Given the description of an element on the screen output the (x, y) to click on. 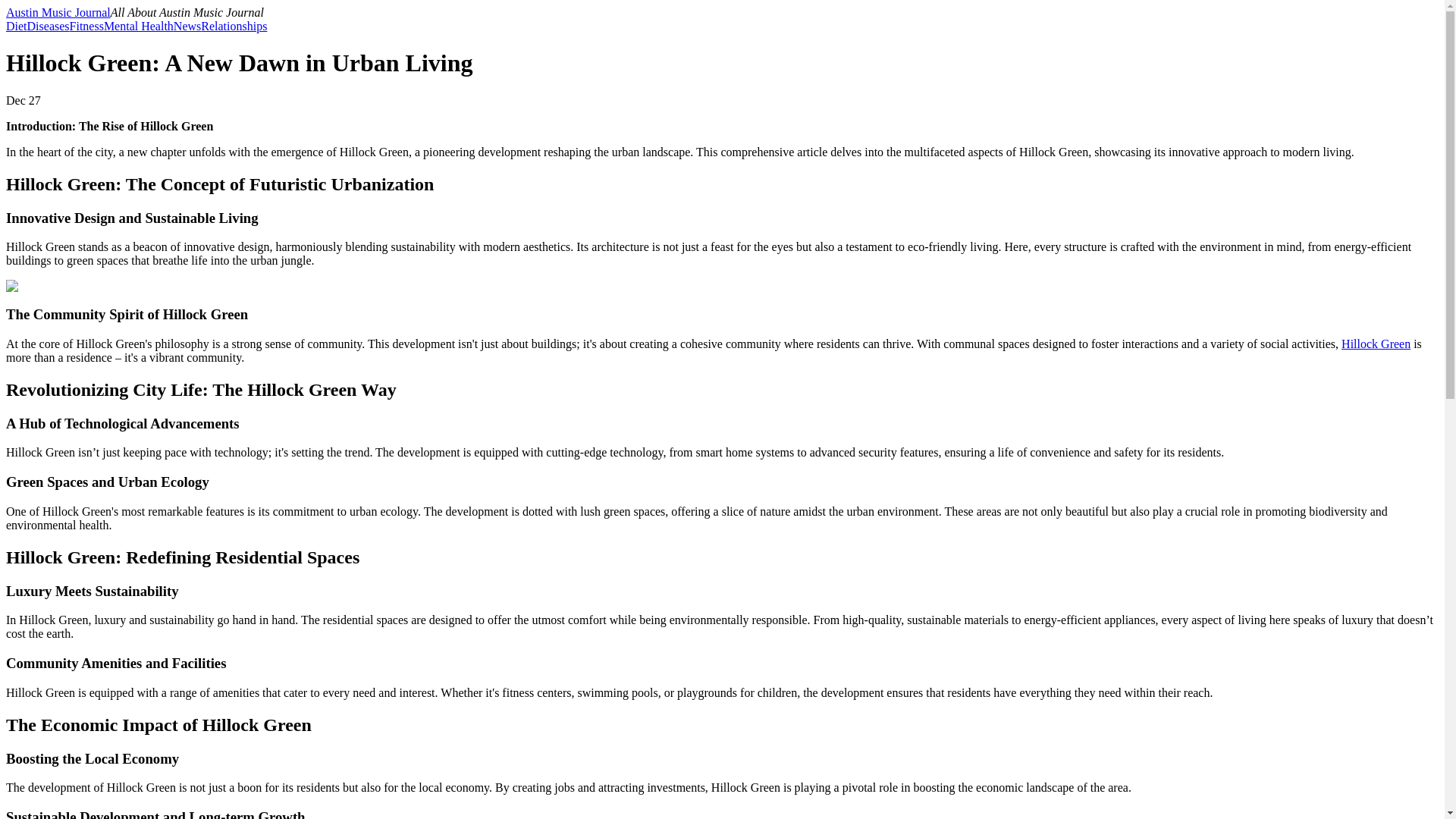
Austin Music Journal (57, 11)
News (186, 25)
Diet (16, 25)
Relationships (233, 25)
Hillock Green (1375, 343)
Diseases (48, 25)
Mental Health (138, 25)
Fitness (86, 25)
